Given the description of an element on the screen output the (x, y) to click on. 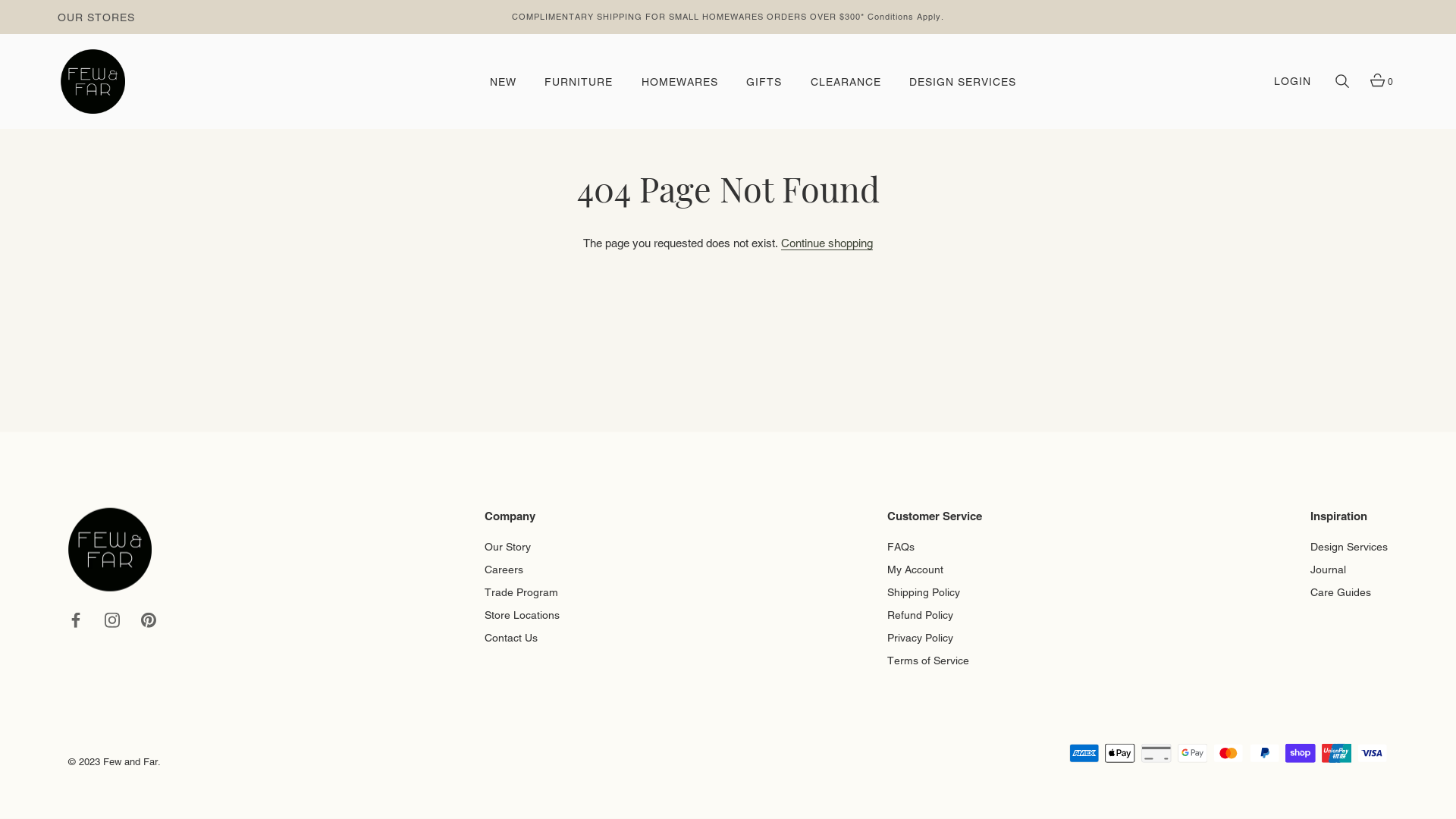
OUR STORES Element type: text (96, 17)
GIFTS Element type: text (763, 82)
Careers Element type: text (503, 566)
0 Element type: text (1376, 81)
Care Guides Element type: text (1340, 589)
Journal Element type: text (1328, 566)
Design Services Element type: text (1348, 543)
Our Story Element type: text (507, 543)
DESIGN SERVICES Element type: text (962, 82)
FAQs Element type: text (900, 543)
HOMEWARES Element type: text (679, 82)
CLEARANCE Element type: text (844, 82)
NEW Element type: text (502, 82)
Store Locations Element type: text (521, 612)
Trade Program Element type: text (521, 589)
LOGIN Element type: text (1292, 81)
Contact Us Element type: text (510, 634)
FURNITURE Element type: text (578, 82)
Shipping Policy Element type: text (923, 589)
Terms of Service Element type: text (928, 657)
Refund Policy Element type: text (920, 612)
Few and Far Element type: text (130, 760)
My Account Element type: text (915, 566)
Privacy Policy Element type: text (920, 634)
Continue shopping Element type: text (826, 243)
